Given the description of an element on the screen output the (x, y) to click on. 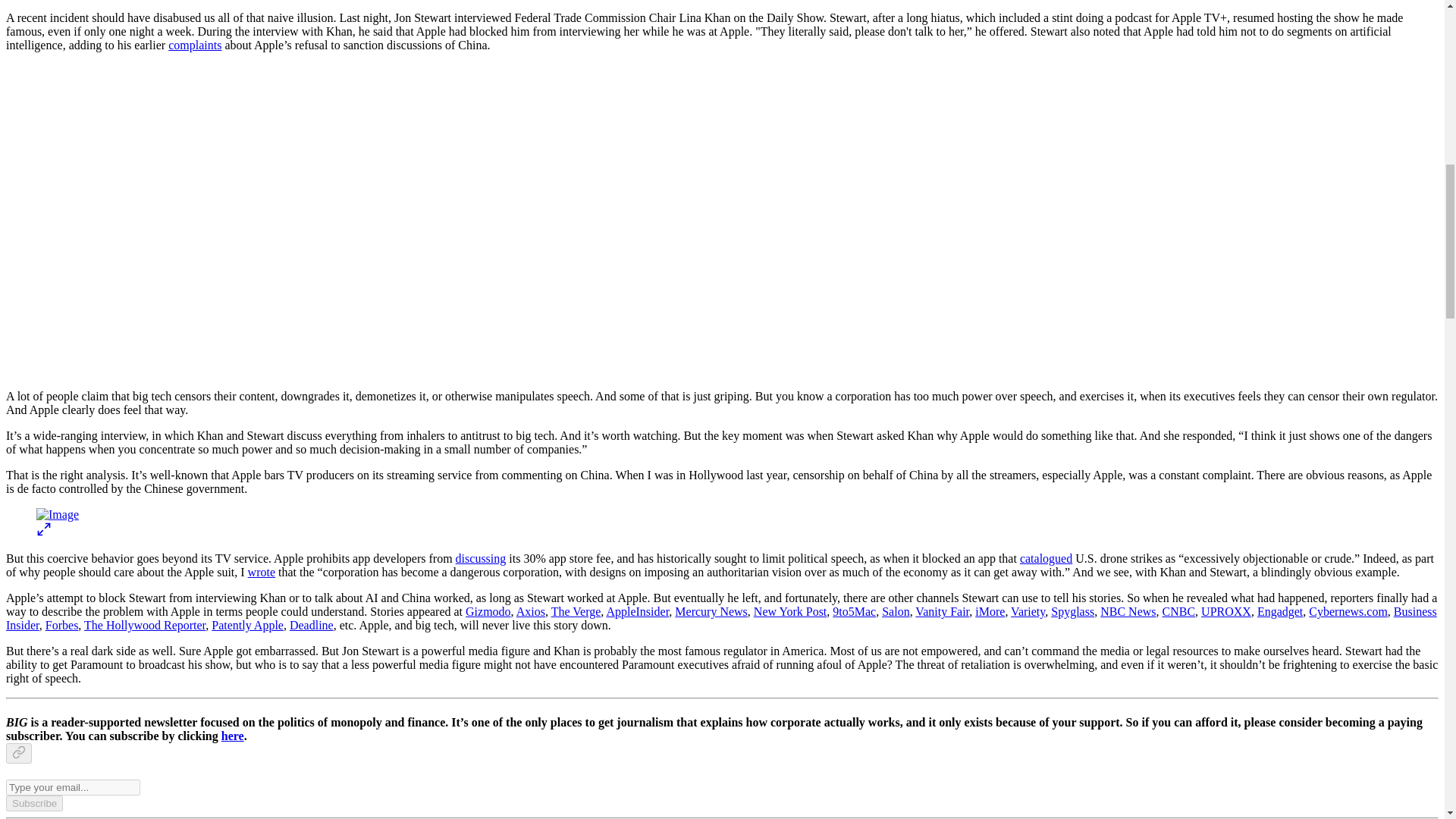
Mercury News (711, 611)
The Verge (576, 611)
Vanity Fair (942, 611)
Image (57, 514)
complaints (194, 44)
catalogued (1045, 558)
Gizmodo (488, 611)
wrote (261, 571)
AppleInsider (636, 611)
New York Post (790, 611)
discussing (480, 558)
Salon (895, 611)
Axios (530, 611)
9to5Mac (854, 611)
iMore (989, 611)
